Given the description of an element on the screen output the (x, y) to click on. 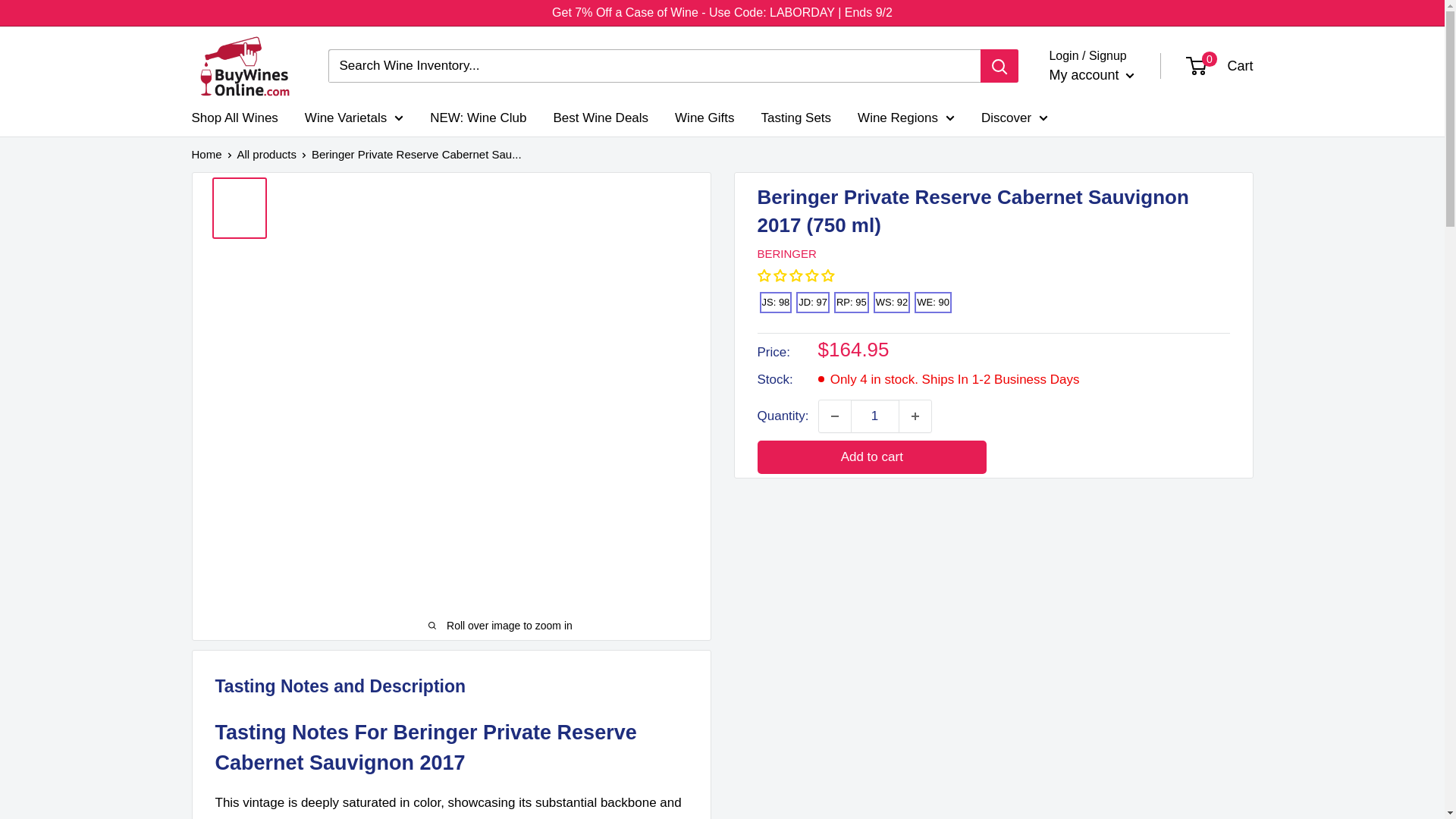
Increase quantity by 1 (915, 416)
1 (874, 416)
Decrease quantity by 1 (834, 416)
